Given the description of an element on the screen output the (x, y) to click on. 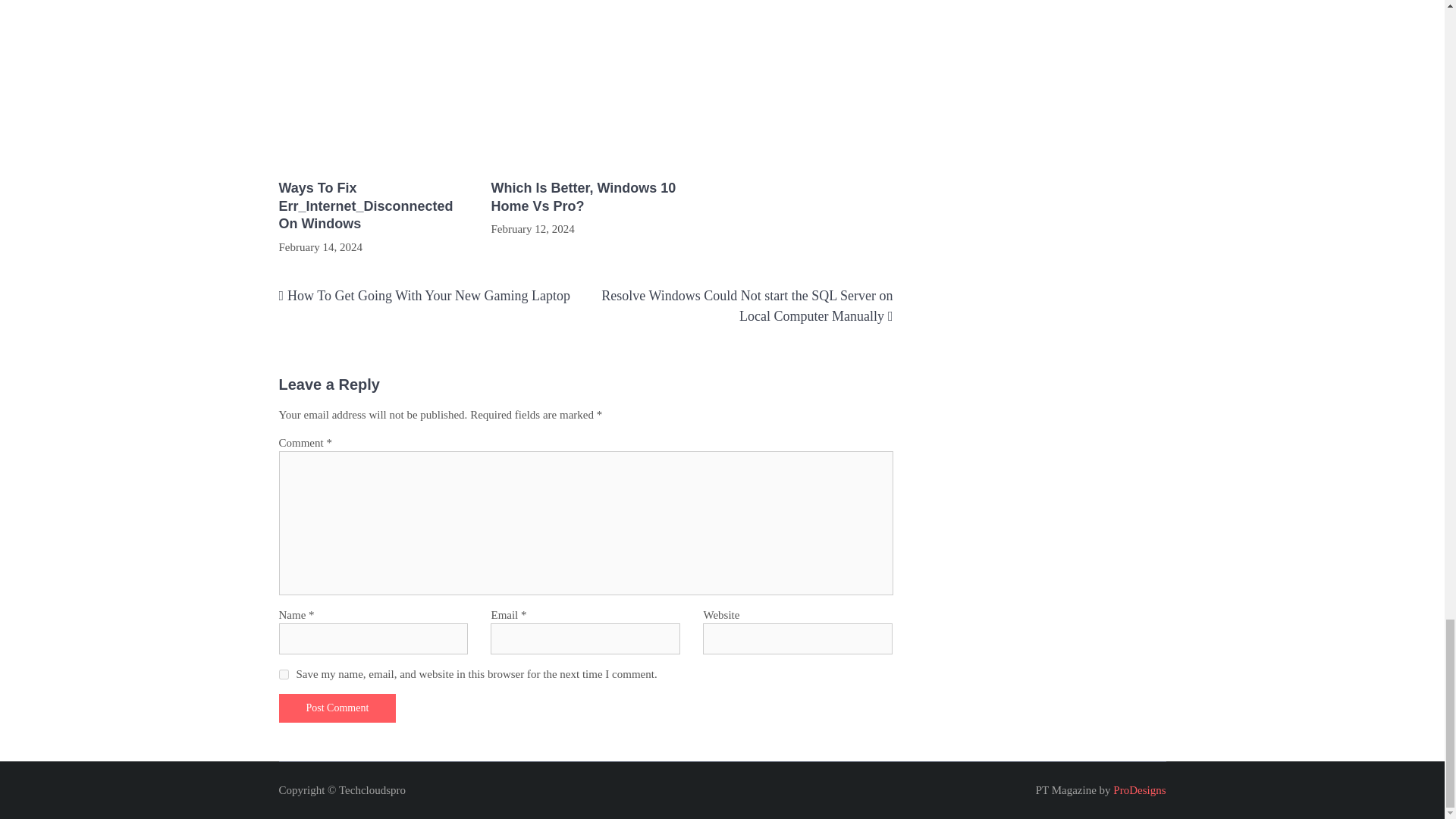
yes (283, 674)
Post Comment (337, 707)
Post Comment (337, 707)
How To Get Going With Your New Gaming Laptop (428, 295)
Which Is Better, Windows 10 Home Vs Pro? (584, 197)
